Given the description of an element on the screen output the (x, y) to click on. 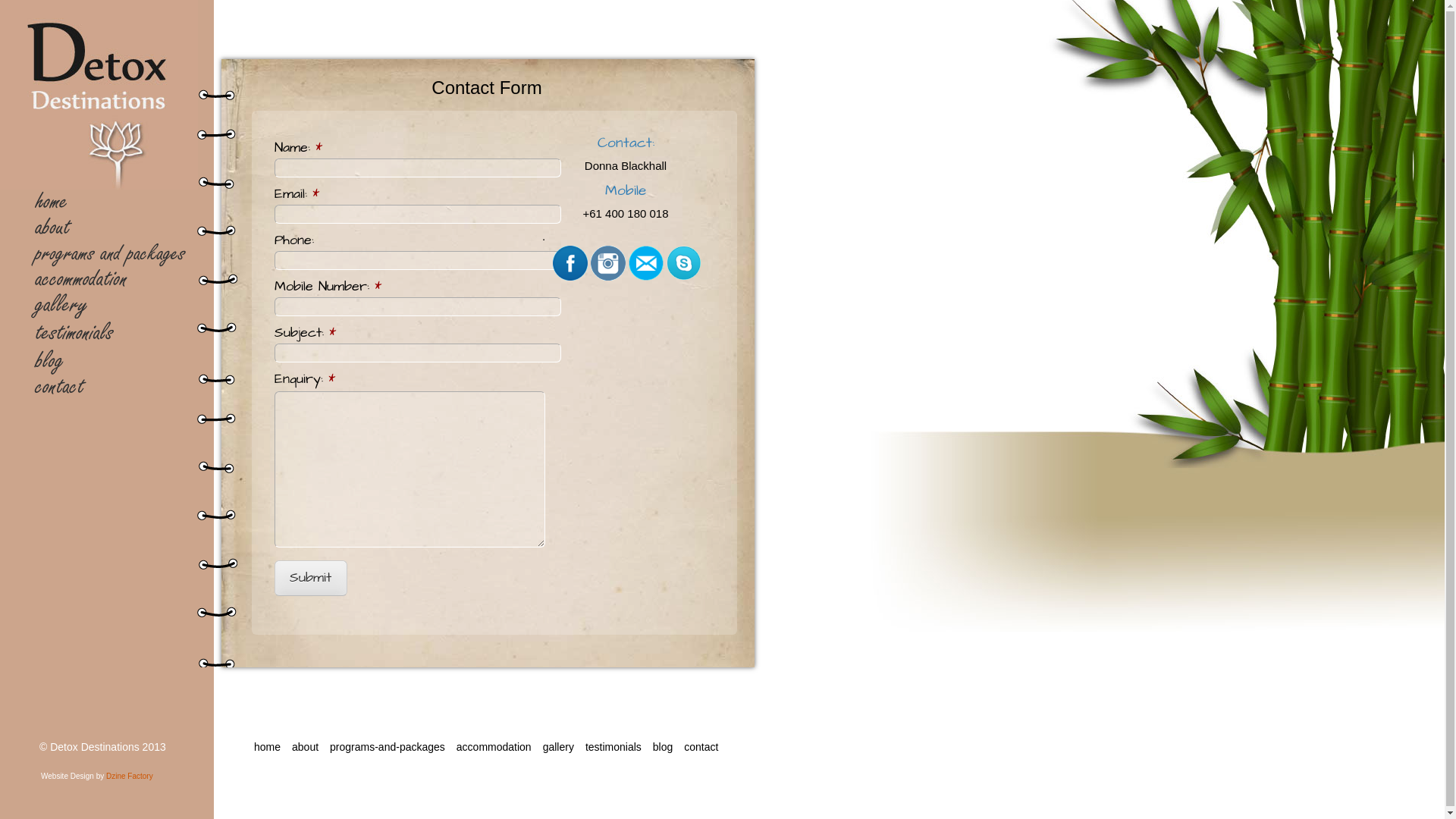
accommodation Element type: text (493, 747)
home Element type: text (110, 202)
home Element type: text (267, 747)
Skip to content Element type: text (67, 198)
contact Element type: text (701, 747)
gallery Element type: text (558, 747)
Detox Destinations Element type: text (67, 11)
about Element type: text (304, 747)
about Element type: text (110, 228)
testimonials Element type: text (613, 747)
programs-and-packages Element type: text (110, 253)
testimonials Element type: text (110, 333)
blog Element type: text (662, 747)
gallery Element type: text (110, 305)
Submit Element type: text (310, 578)
blog Element type: text (110, 361)
programs-and-packages Element type: text (387, 747)
accommodation Element type: text (110, 279)
Dzine Factory Element type: text (129, 775)
contact Element type: text (110, 387)
